Given the description of an element on the screen output the (x, y) to click on. 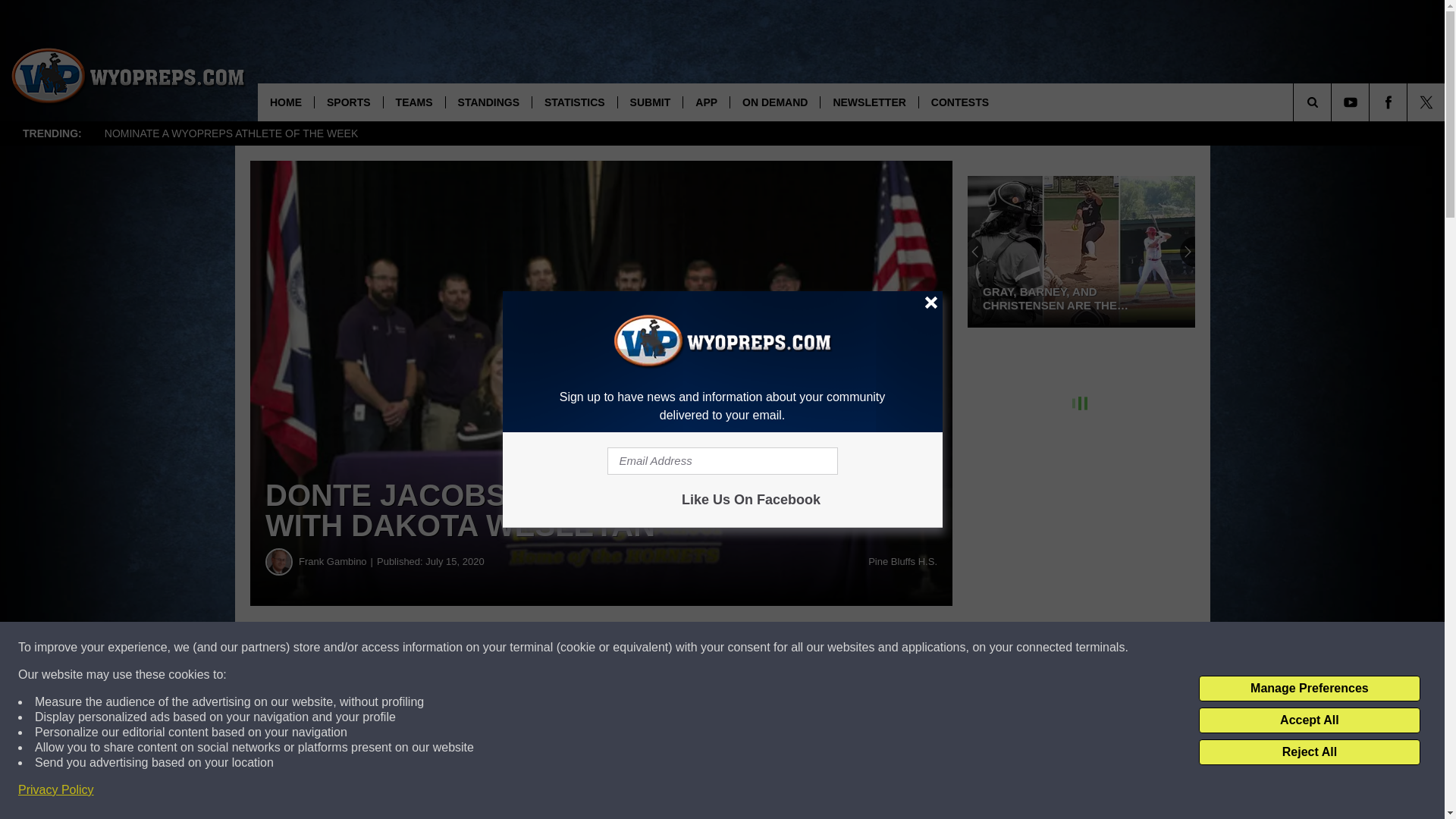
Share on Facebook (460, 647)
SEARCH (1333, 102)
HOME (285, 102)
Manage Preferences (1309, 688)
TEAMS (413, 102)
Share on Twitter (741, 647)
Accept All (1309, 720)
SPORTS (348, 102)
NOMINATE A WYOPREPS ATHLETE OF THE WEEK (231, 133)
SEARCH (1333, 102)
Reject All (1309, 751)
Privacy Policy (55, 789)
TRENDING: (52, 133)
Email Address (722, 461)
